Given the description of an element on the screen output the (x, y) to click on. 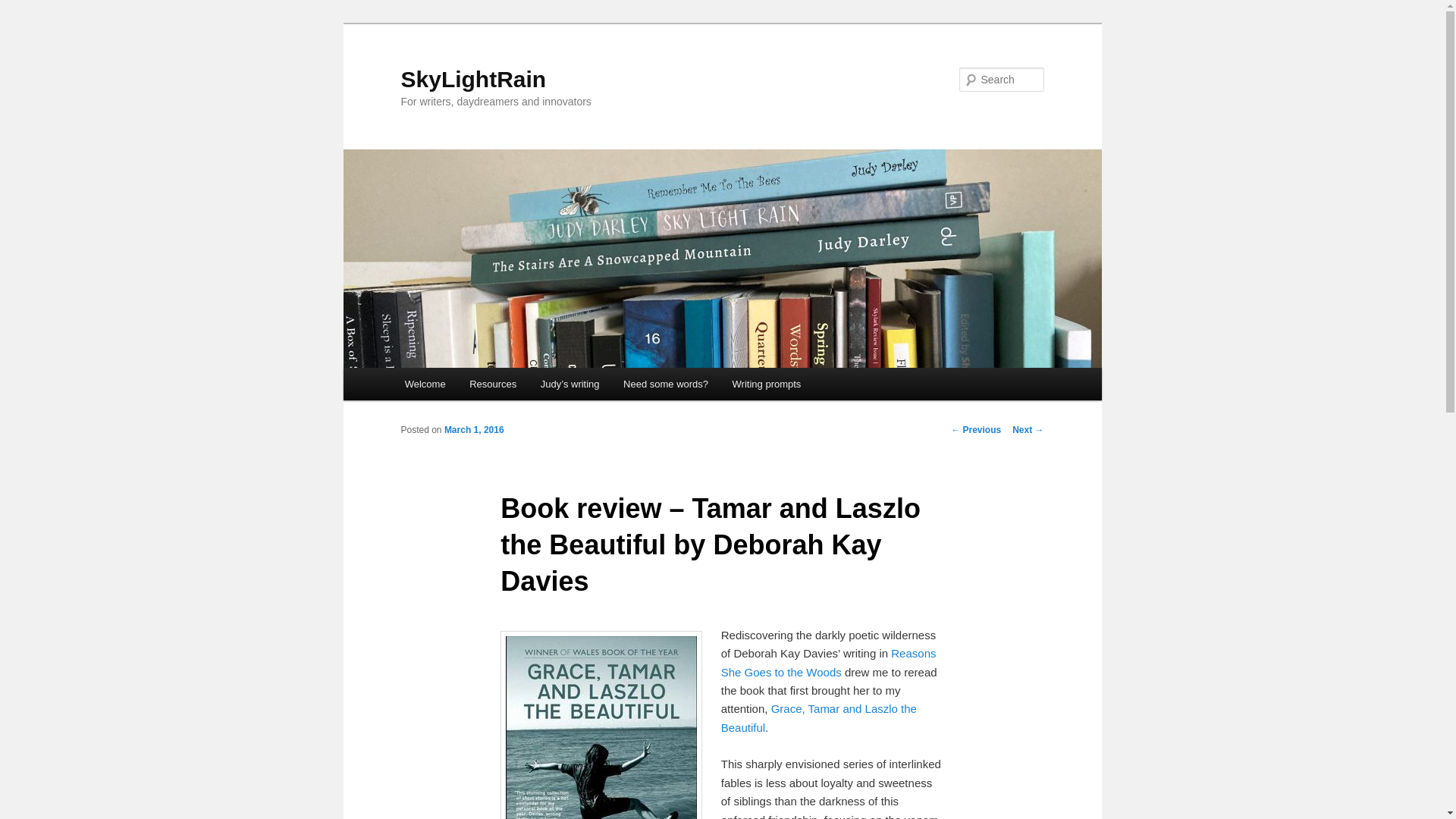
Welcome (425, 383)
Resources (492, 383)
Grace, Tamar and Laszlo the Beautiful (818, 717)
Search (24, 8)
Need some words? (665, 383)
SkyLightRain (473, 78)
Writing prompts (766, 383)
March 1, 2016 (473, 429)
Reasons She Goes to the Woods (828, 662)
